Given the description of an element on the screen output the (x, y) to click on. 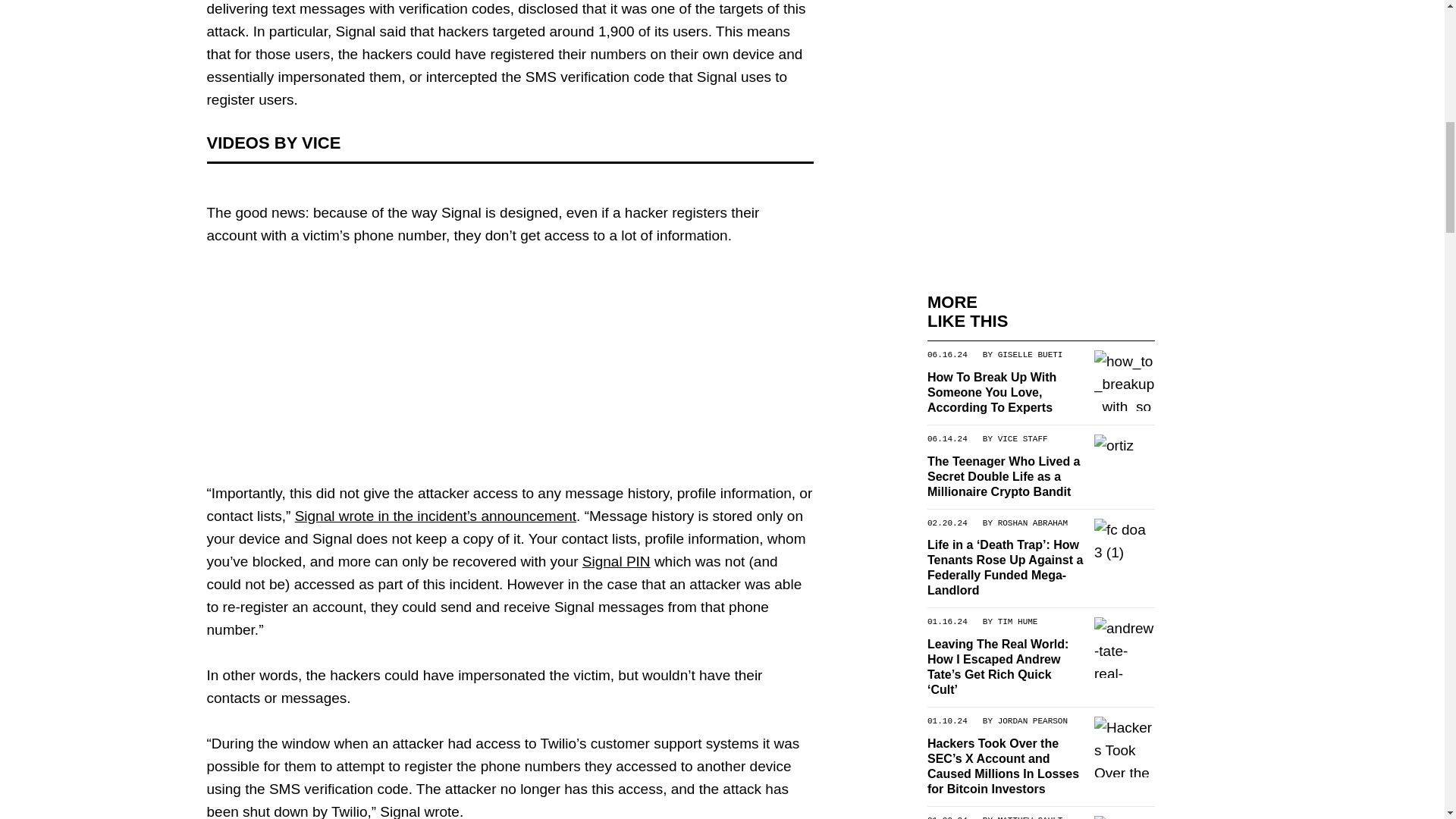
Posts by Jordan Pearson (1032, 719)
Posts by Tim Hume (1016, 620)
Posts by Giselle Bueti (1029, 353)
Posts by VICE Staff (1021, 438)
Posts by Matthew Gault (1029, 816)
Posts by Roshan Abraham (1032, 522)
